Given the description of an element on the screen output the (x, y) to click on. 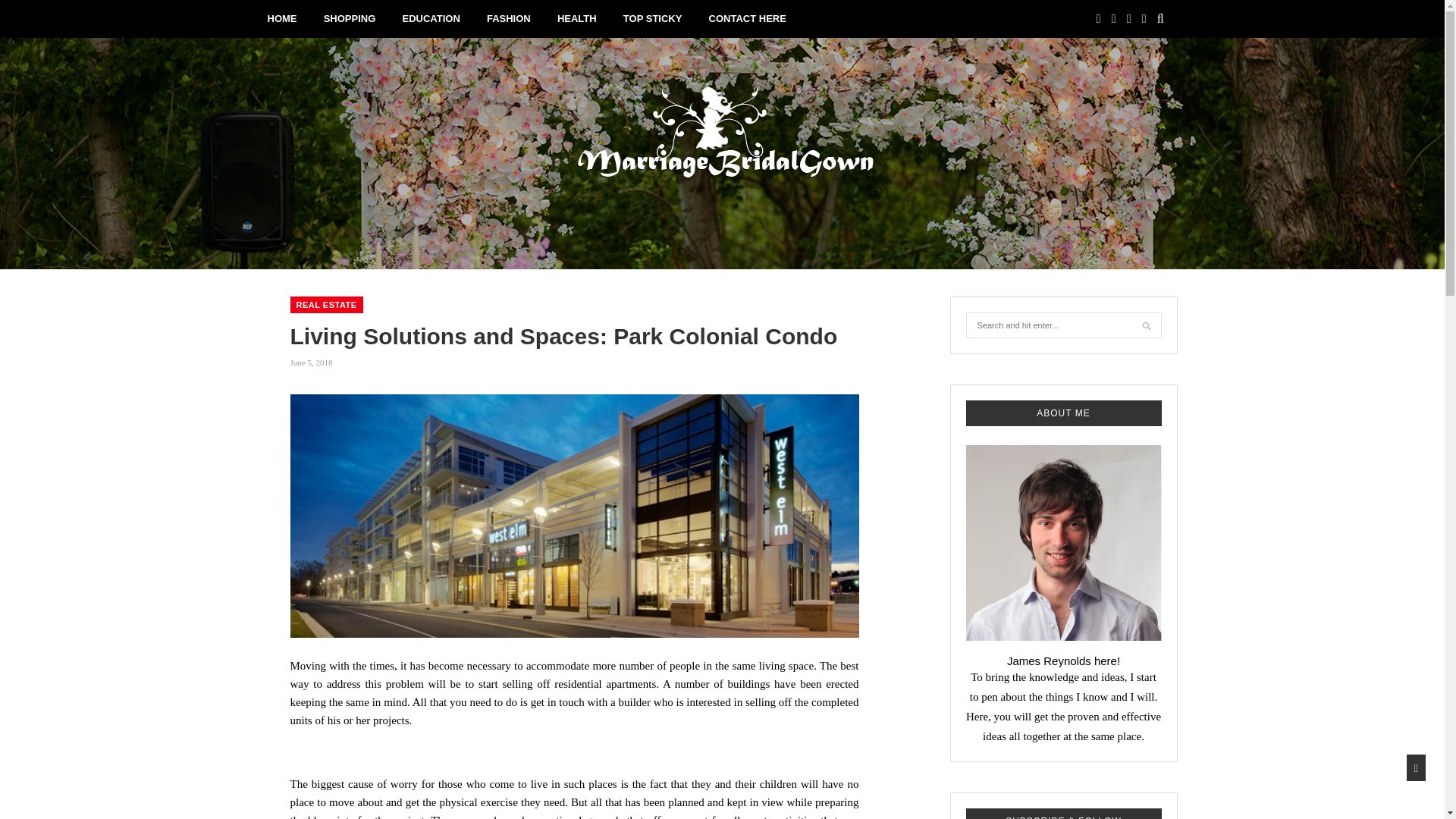
SHOPPING (349, 18)
CONTACT HERE (747, 18)
HEALTH (576, 18)
TOP STICKY (652, 18)
EDUCATION (430, 18)
REAL ESTATE (325, 304)
FASHION (508, 18)
